Given the description of an element on the screen output the (x, y) to click on. 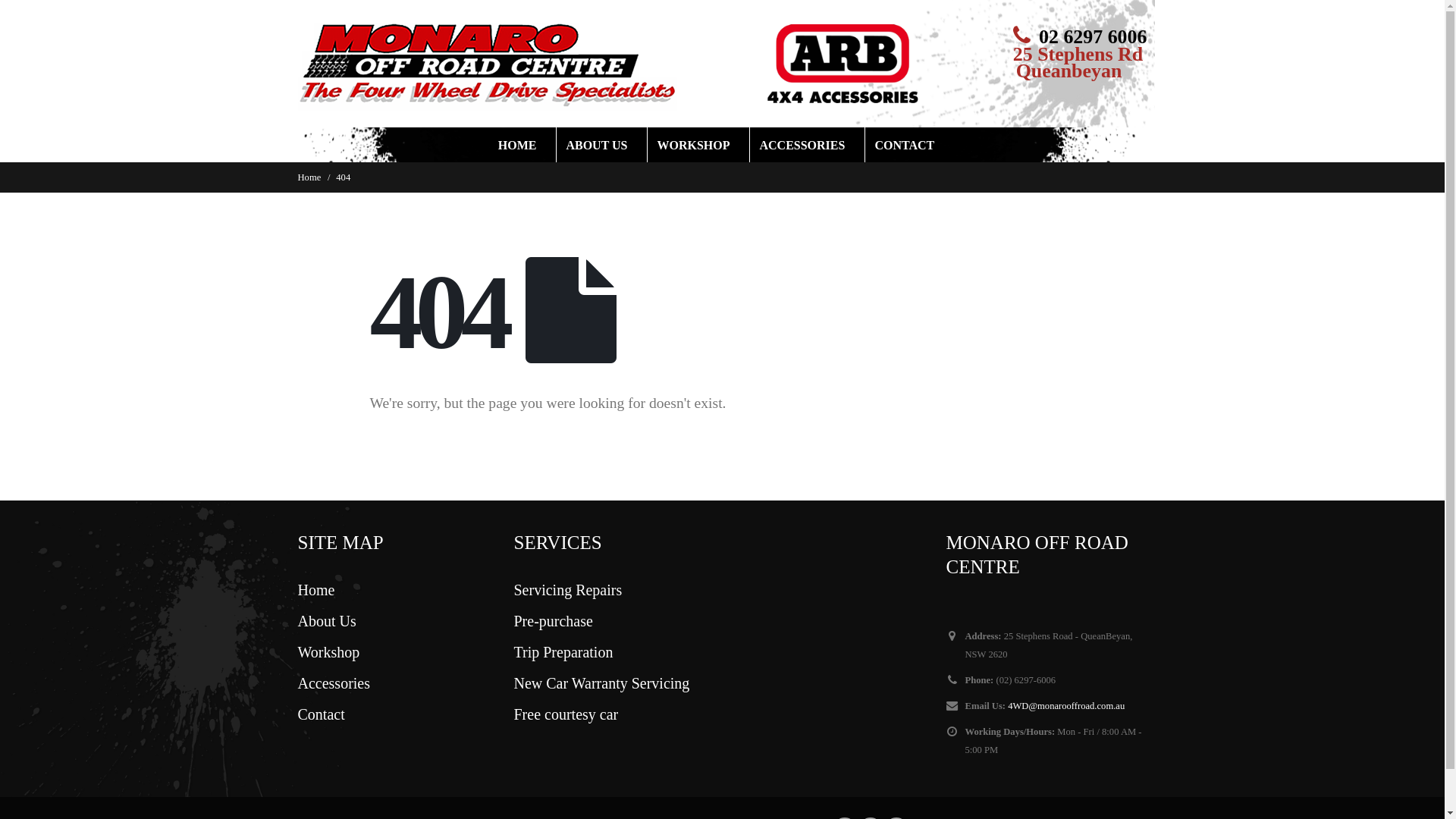
WORKSHOP Element type: text (699, 144)
ACCESSORIES Element type: text (808, 144)
Accessories Element type: text (333, 682)
About Us Element type: text (326, 620)
Home Element type: text (308, 177)
Workshop Element type: text (328, 651)
Contact Element type: text (320, 714)
CONTACT Element type: text (909, 144)
ABOUT US Element type: text (602, 144)
HOME Element type: text (523, 144)
4WD@monarooffroad.com.au Element type: text (1065, 705)
02 6297 6006
25 Stephens Rd
Queanbeyan Element type: text (1078, 51)
Home Element type: text (315, 589)
